Given the description of an element on the screen output the (x, y) to click on. 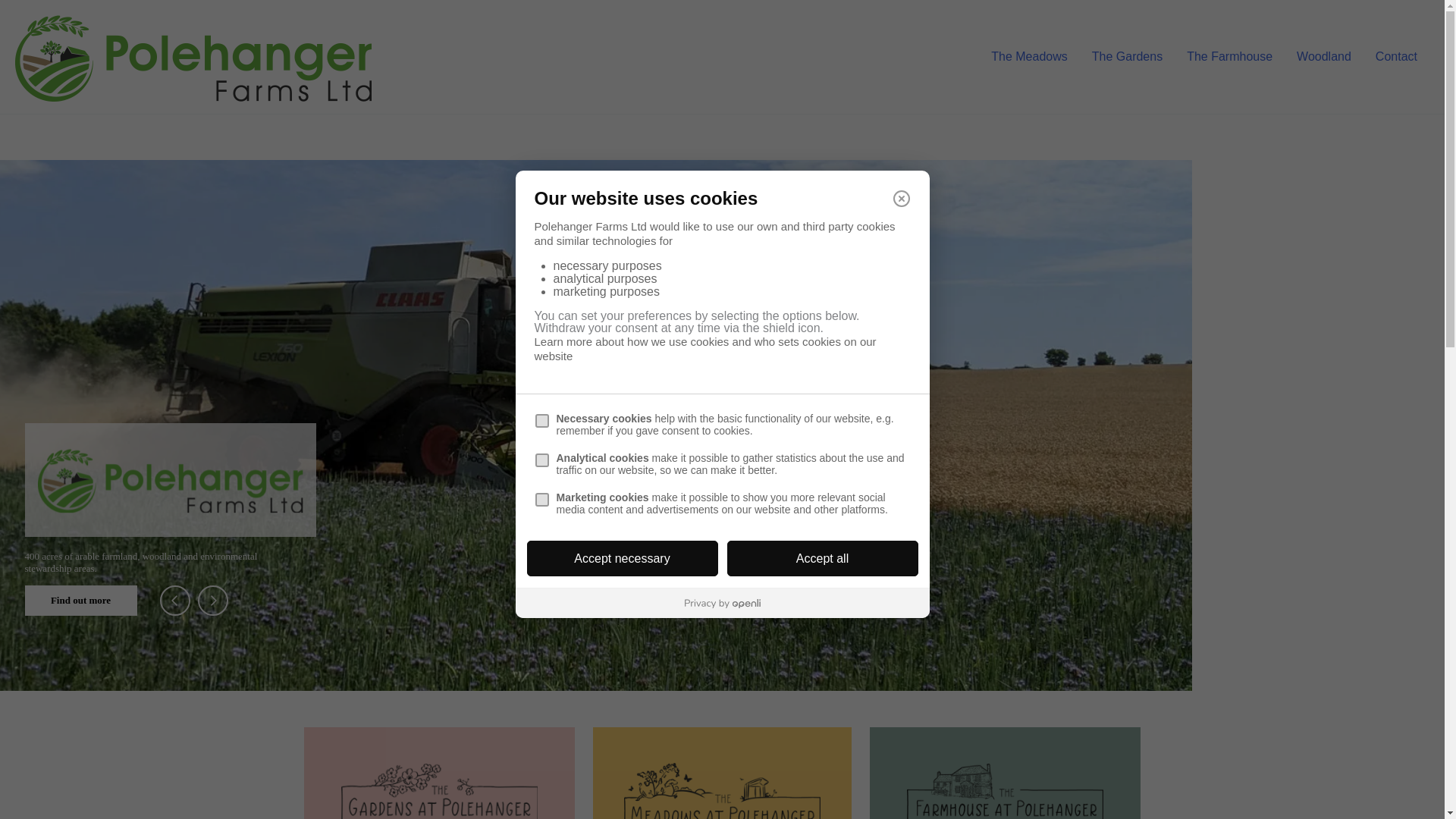
The Farmhouse (1229, 56)
Accept all (821, 558)
Privacy by Openli (722, 603)
Accept necessary (621, 558)
The Meadows (1029, 56)
Woodland (1323, 56)
The Gardens (1127, 56)
Contact (1395, 56)
